Given the description of an element on the screen output the (x, y) to click on. 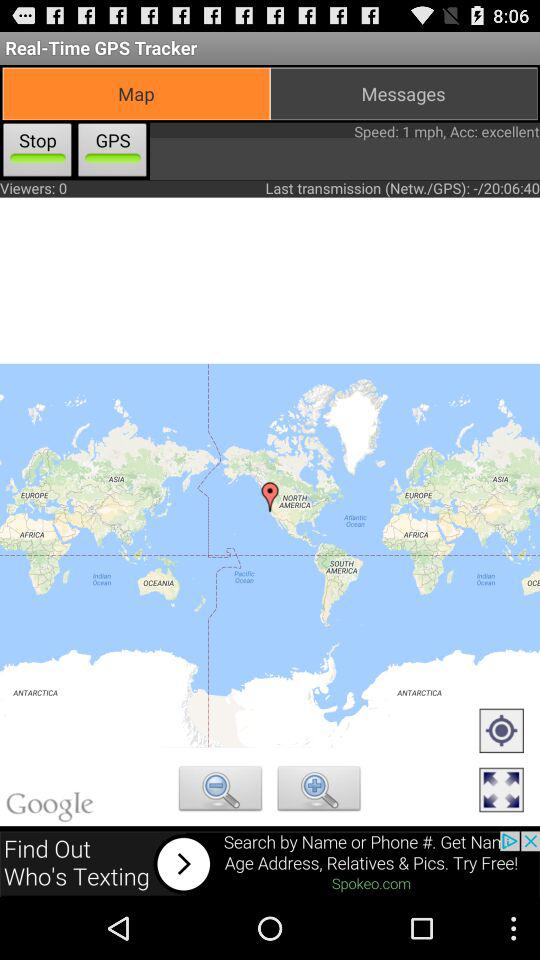
click to show your location icon (501, 731)
